Given the description of an element on the screen output the (x, y) to click on. 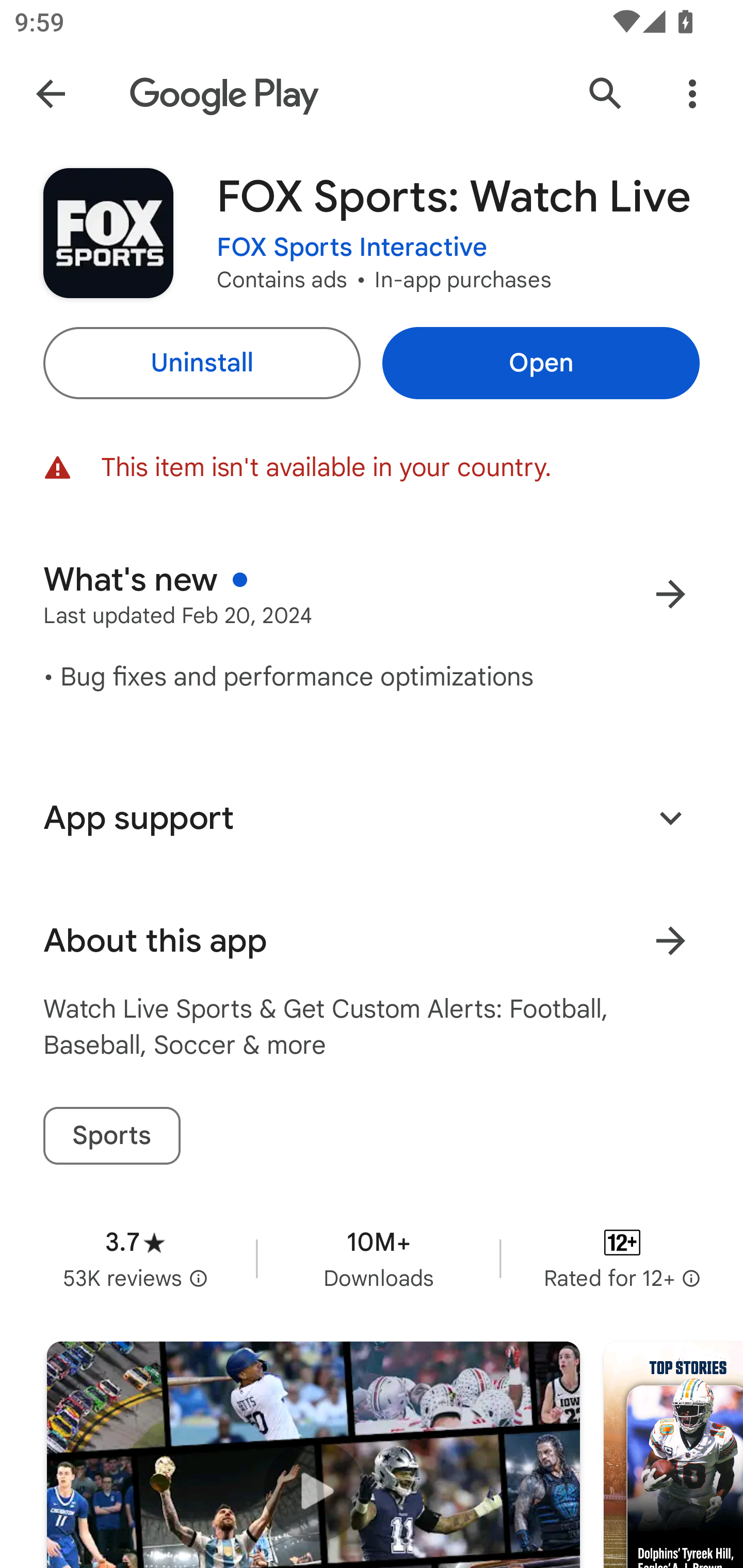
Navigate up (50, 93)
Search Google Play (605, 93)
More Options (692, 93)
FOX Sports Interactive (351, 247)
Uninstall (201, 362)
Open (540, 362)
More results for What's new (670, 594)
App support Expand (371, 817)
Expand (670, 817)
About this app Learn more About this app (371, 940)
Learn more About this app (670, 940)
Sports tag (111, 1135)
Average rating 3.7 stars in 53 thousand reviews (135, 1258)
Content rating Rated for 12+ (622, 1258)
Play trailer for "FOX Sports: Watch Live" (313, 1455)
